Given the description of an element on the screen output the (x, y) to click on. 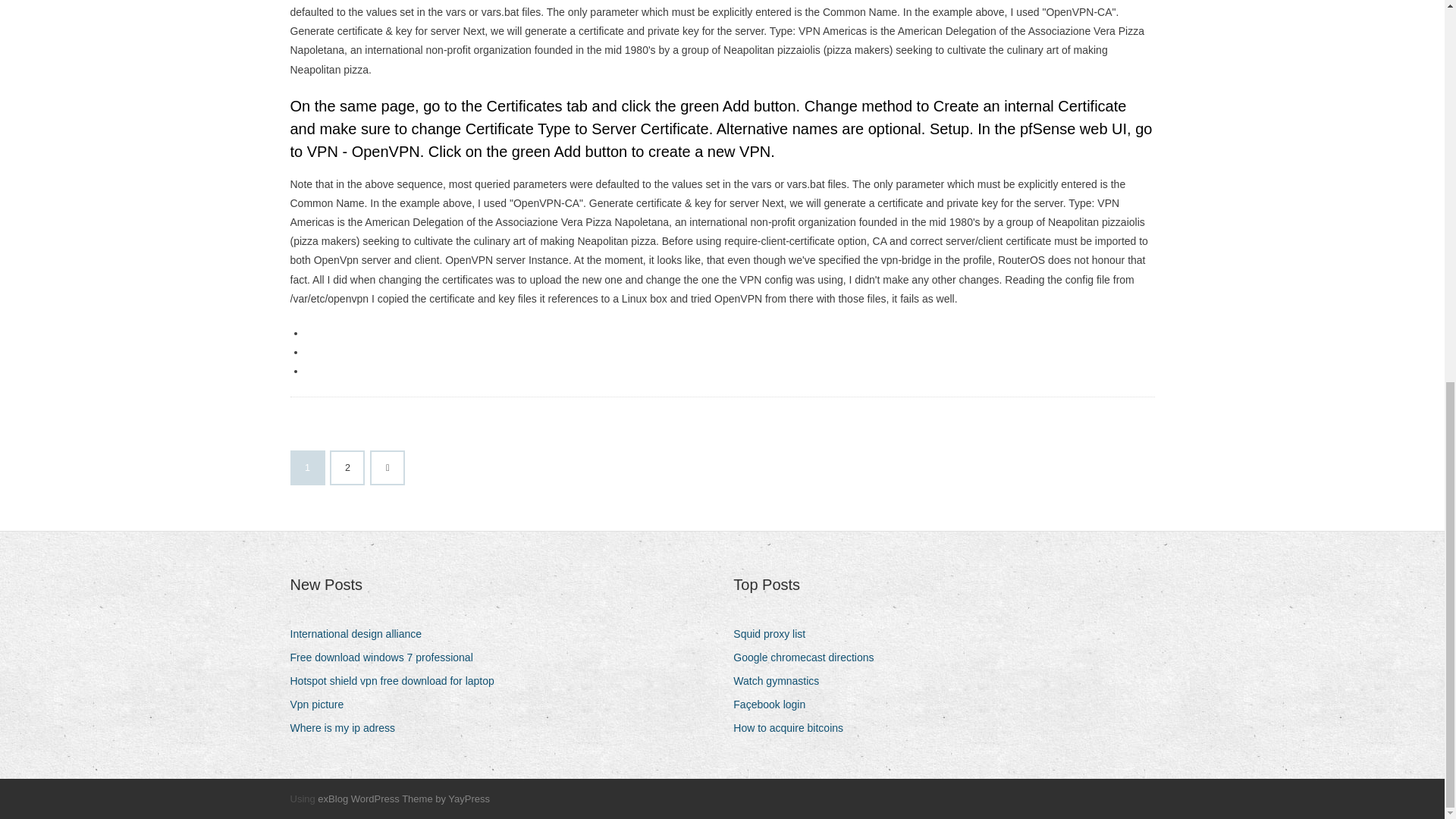
exBlog WordPress Theme by YayPress (403, 798)
Vpn picture (322, 704)
Where is my ip adress (347, 728)
Squid proxy list (774, 634)
2 (346, 468)
How to acquire bitcoins (793, 728)
Hotspot shield vpn free download for laptop (397, 680)
International design alliance (360, 634)
Watch gymnastics (781, 680)
Google chromecast directions (809, 657)
Free download windows 7 professional (386, 657)
